Given the description of an element on the screen output the (x, y) to click on. 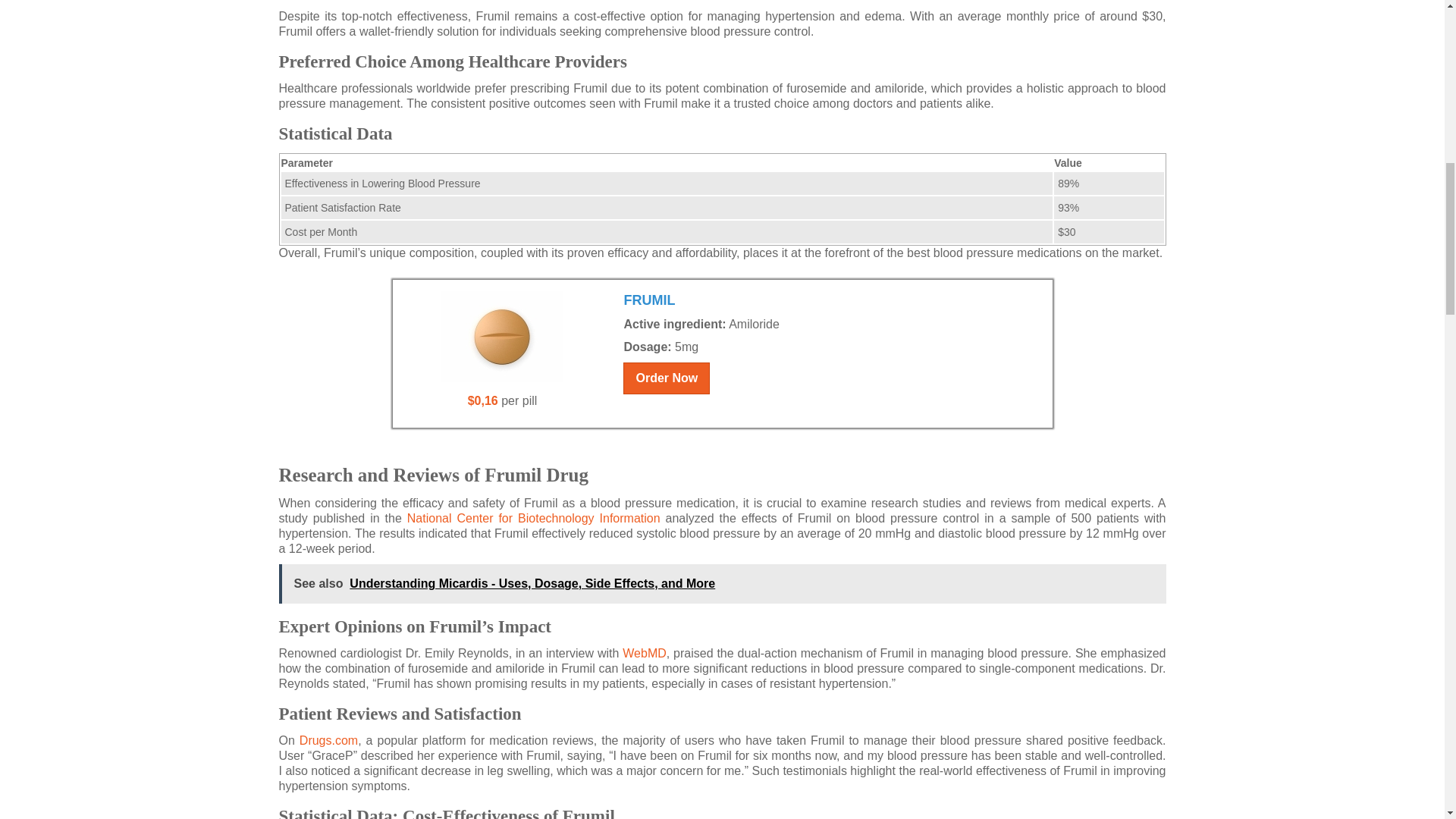
WebMD (644, 653)
Order Now (666, 377)
National Center for Biotechnology Information (534, 517)
Drugs.com (328, 739)
